Given the description of an element on the screen output the (x, y) to click on. 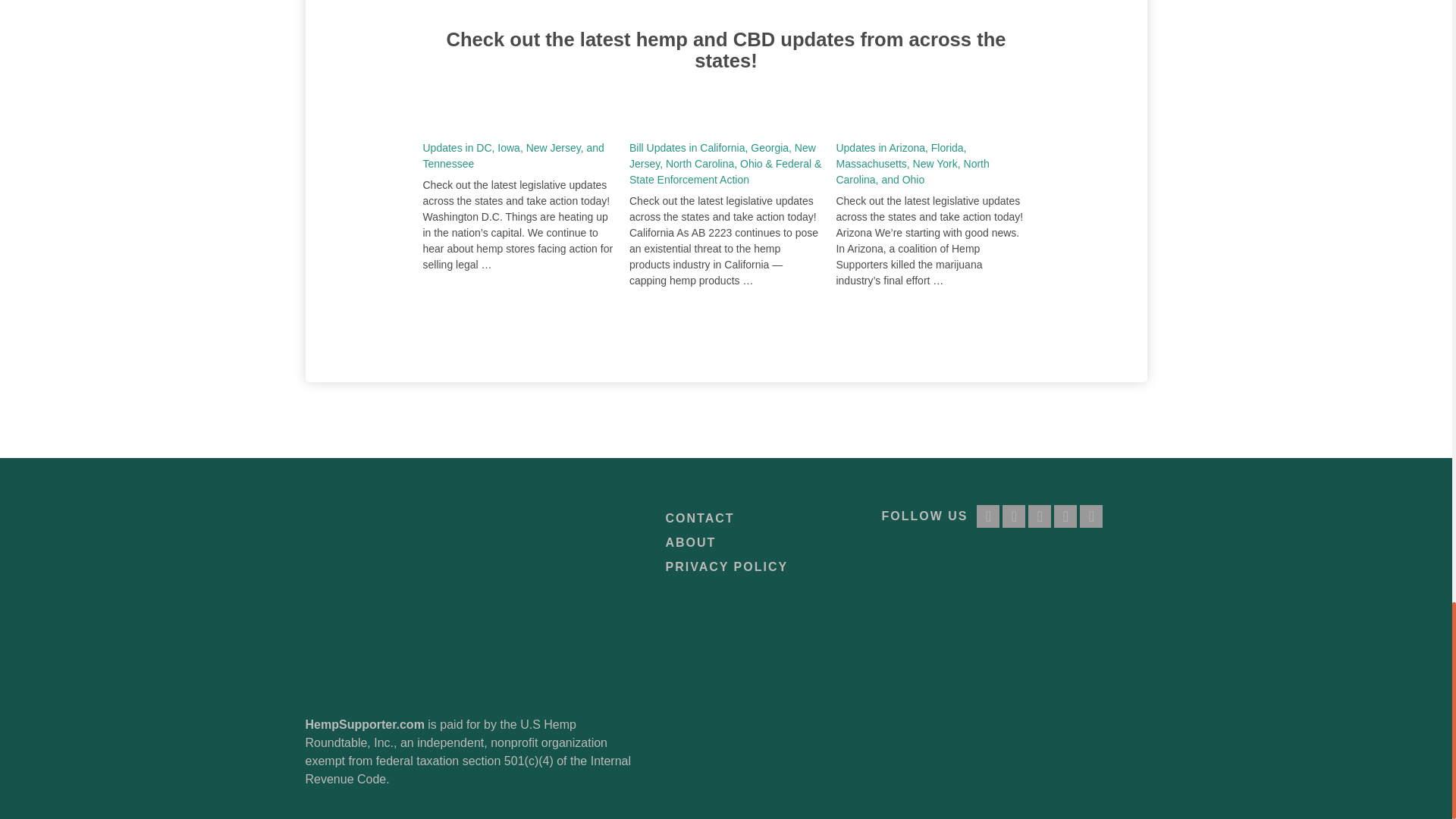
twitter (1014, 516)
facebook (987, 516)
